Given the description of an element on the screen output the (x, y) to click on. 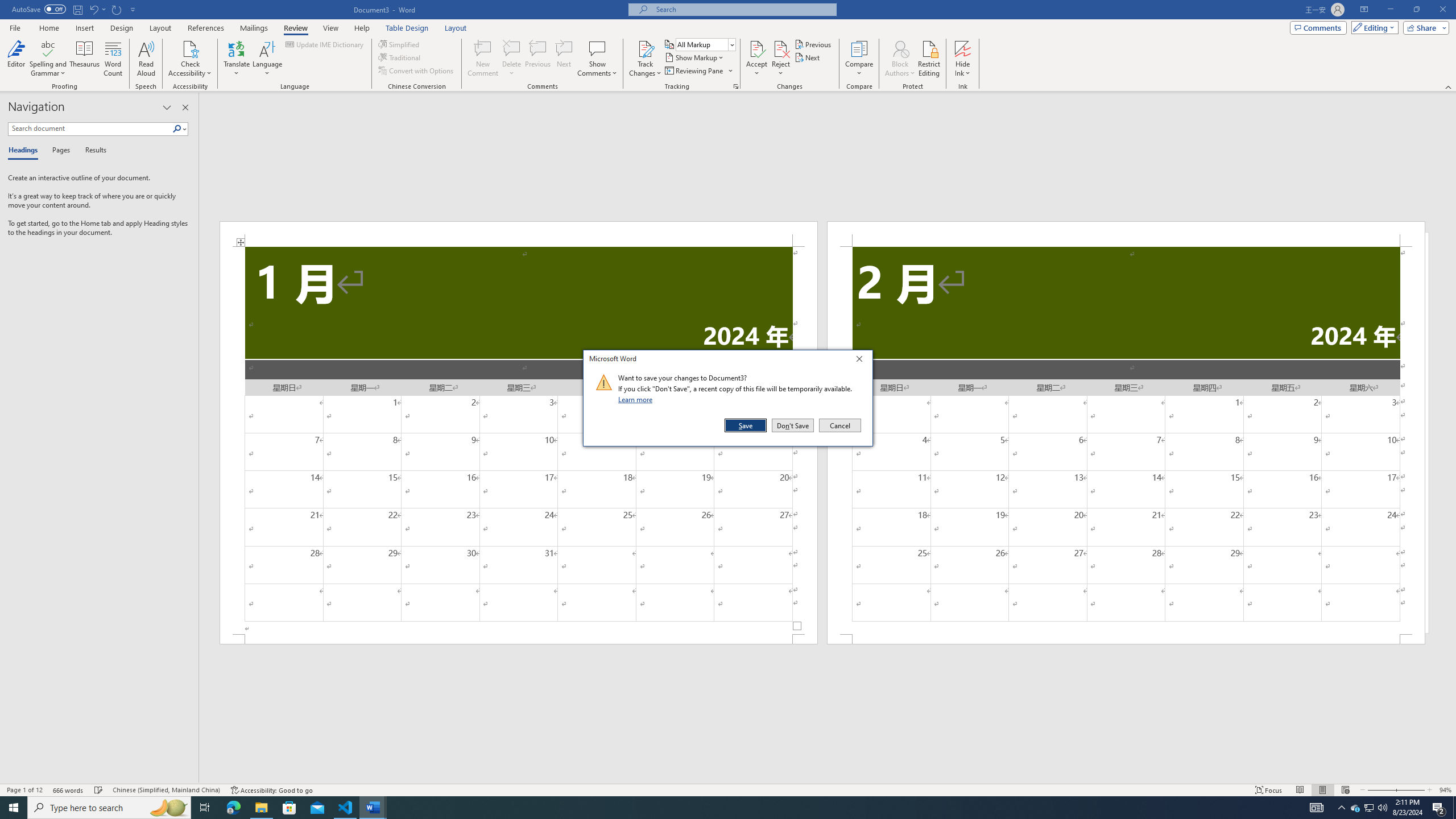
Cancel (839, 425)
Compare (859, 58)
Accept and Move to Next (756, 48)
Reviewing Pane (694, 69)
Translate (236, 58)
New Comment (482, 58)
